Given the description of an element on the screen output the (x, y) to click on. 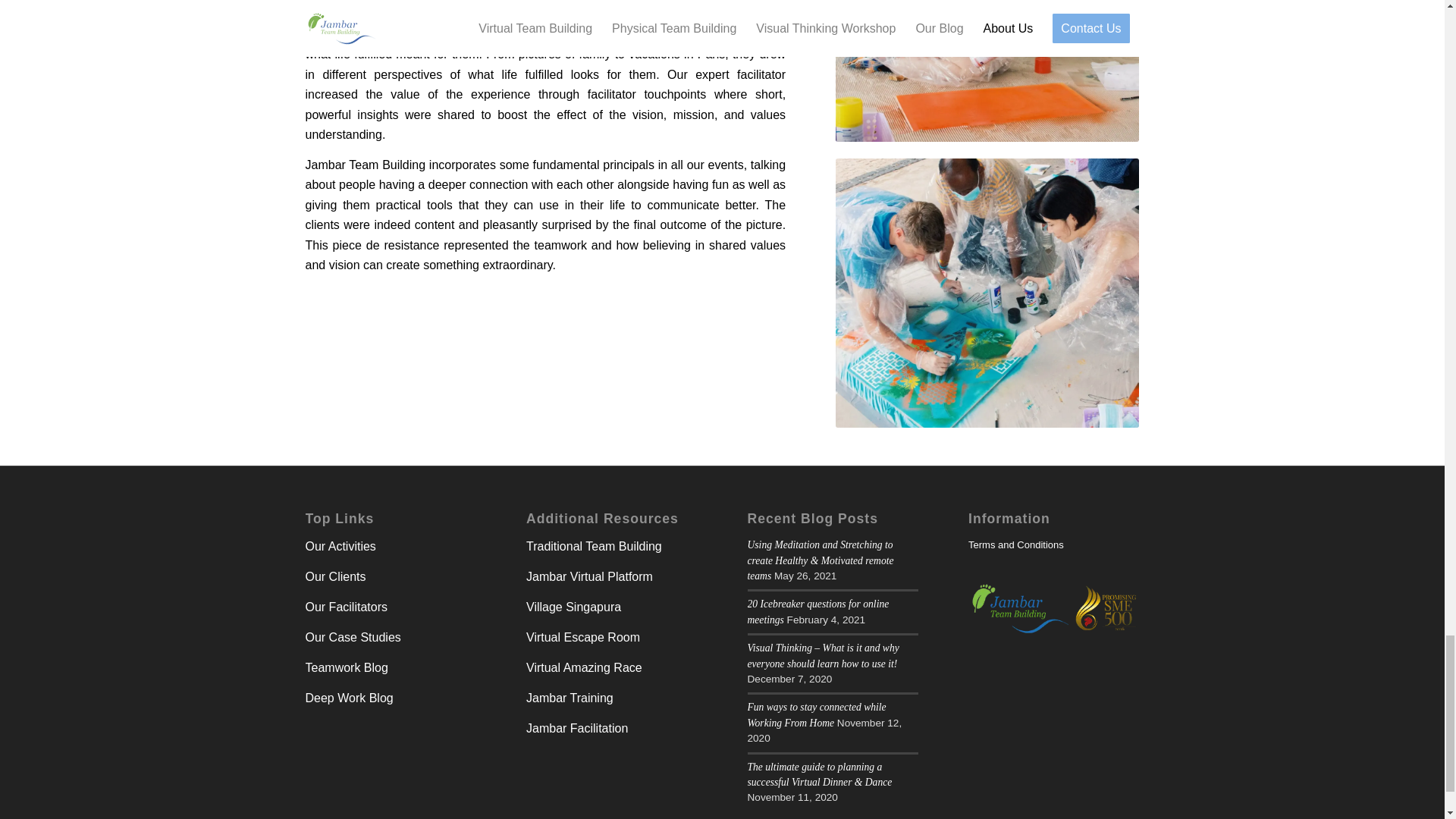
Jambar Training (568, 697)
Village Singapura (573, 606)
Processed with VSCO with g3 preset (986, 292)
Virtual Escape Room (582, 636)
Terms and Conditions (1054, 545)
Jambar Facilitation (576, 727)
Processed with VSCO with g3 preset (986, 70)
Deep Work Blog (348, 697)
Our Case Studies (352, 636)
Jambar Virtual Platform (588, 576)
